Given the description of an element on the screen output the (x, y) to click on. 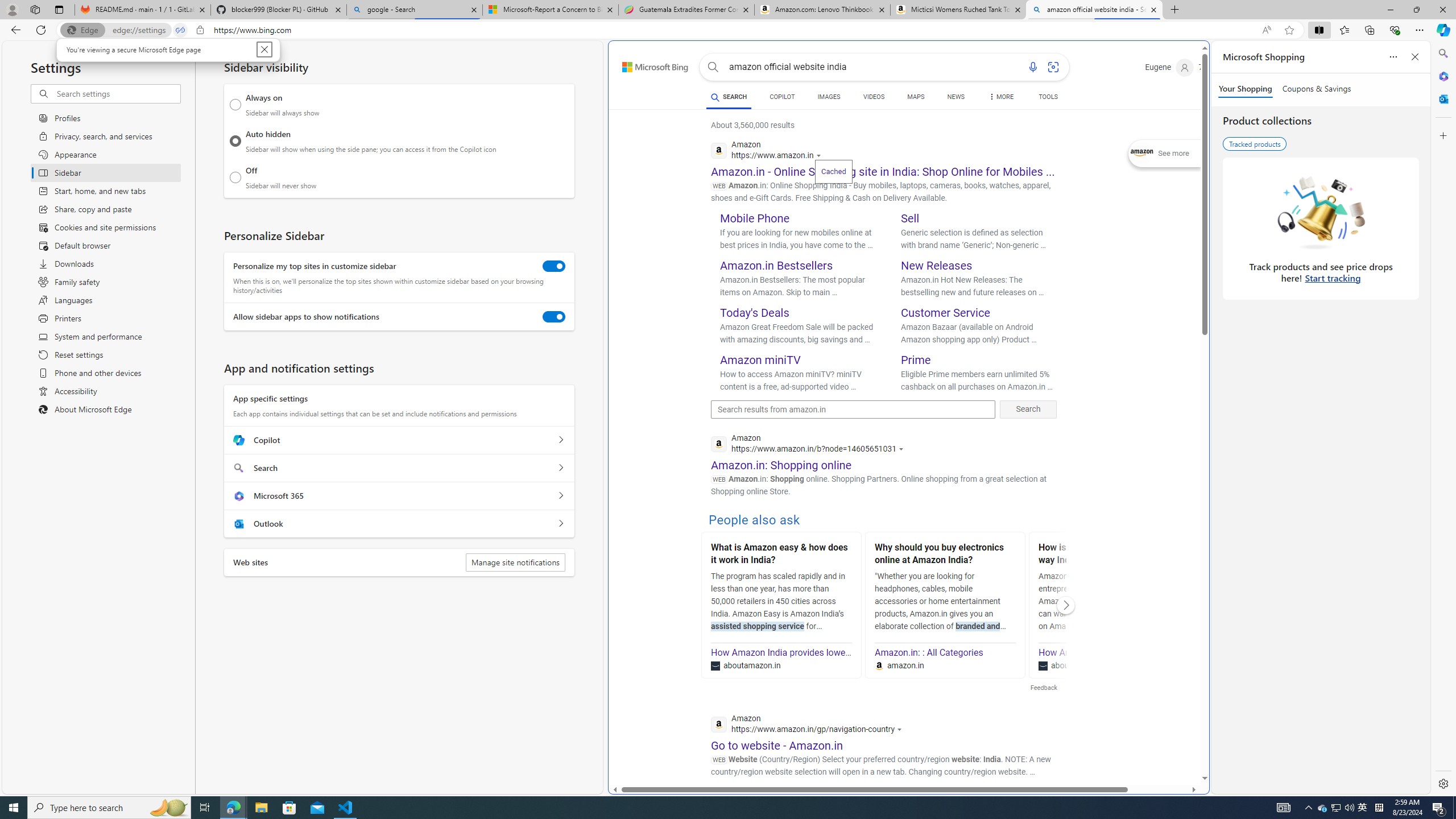
amazon official website india - Search (1094, 9)
AutomationID: mfa_root (1161, 743)
Amazon.in Bestsellers (776, 265)
Personalize my top sites in customize sidebar (553, 265)
Prime (915, 359)
Microsoft Rewards 72 (1214, 67)
